Given the description of an element on the screen output the (x, y) to click on. 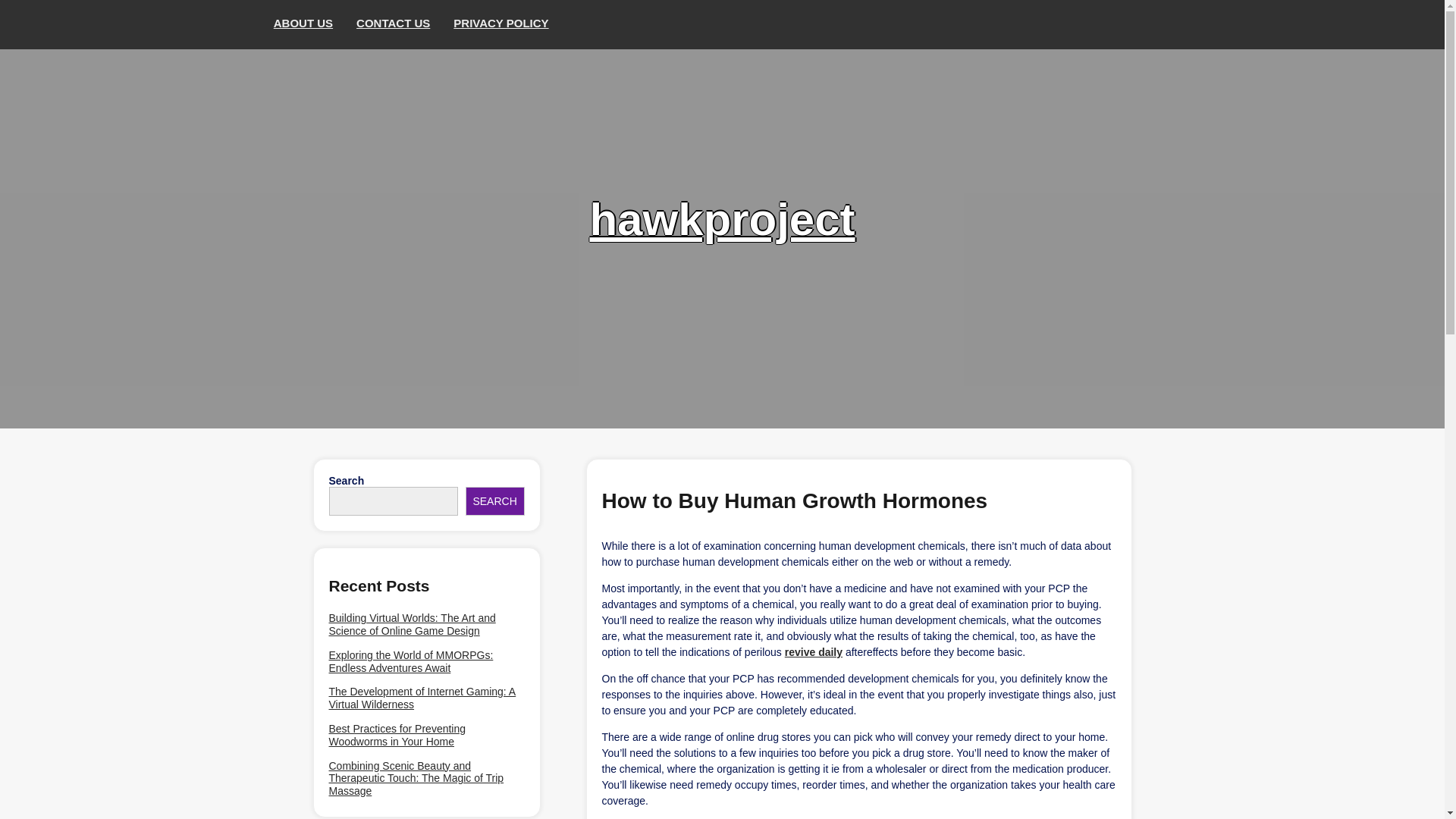
hawkproject (721, 219)
ABOUT US (303, 24)
PRIVACY POLICY (501, 24)
The Development of Internet Gaming: A Virtual Wilderness (426, 698)
revive daily (813, 652)
Exploring the World of MMORPGs: Endless Adventures Await (426, 661)
CONTACT US (393, 24)
SEARCH (494, 500)
Best Practices for Preventing Woodworms in Your Home (426, 735)
